Given the description of an element on the screen output the (x, y) to click on. 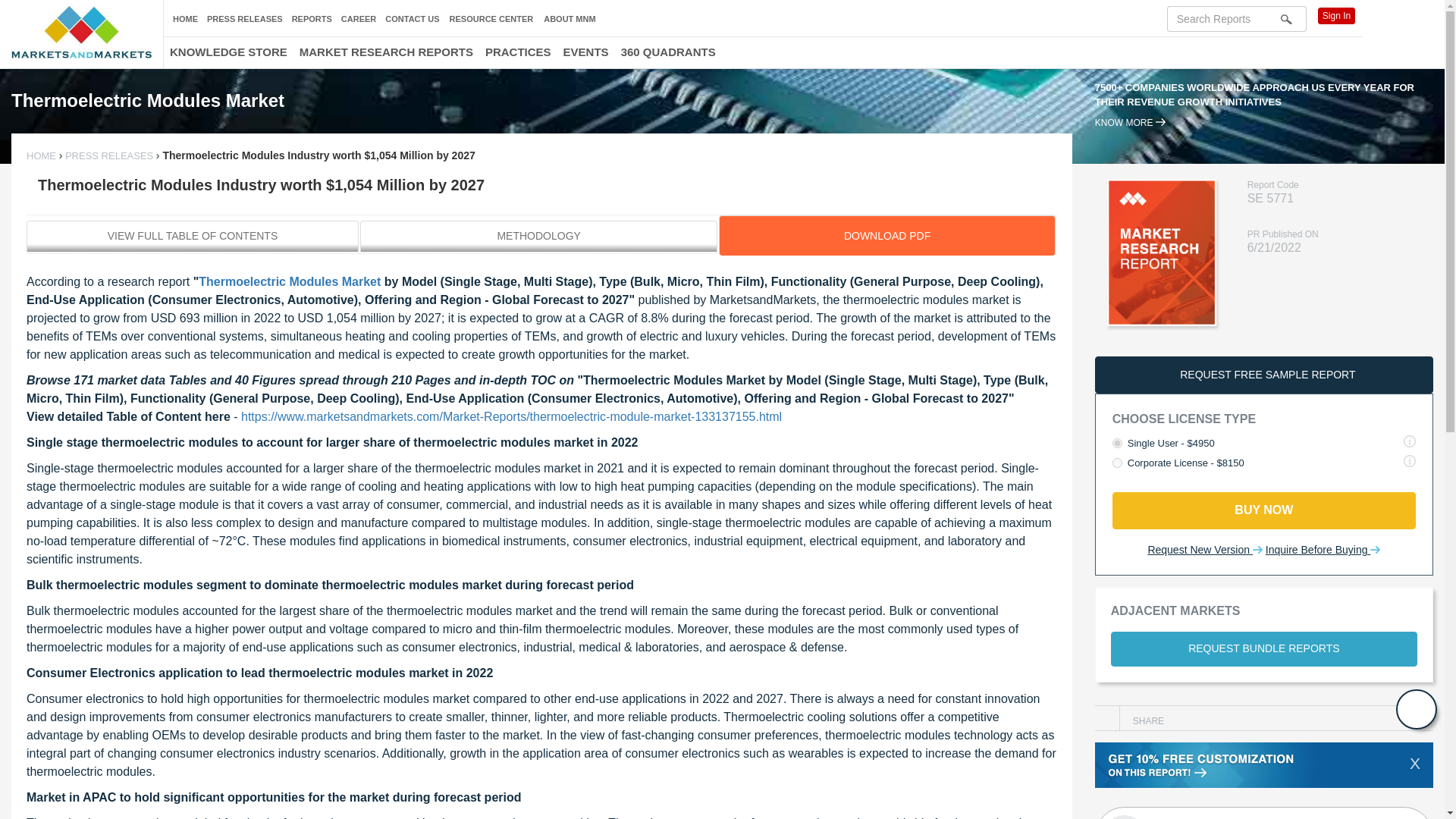
Press release (108, 155)
RESOURCE CENTER (491, 19)
DOWNLOAD PDF (886, 235)
on (1117, 442)
Request New Version (1204, 549)
VIEW FULL TABLE OF CONTENTS (192, 235)
CONTACT US (412, 18)
REPORTS (311, 18)
Market Research Firm (81, 31)
Inquire Before Buying (1322, 549)
REQUEST BUNDLE REPORTS (1263, 648)
PRESS RELEASES (108, 155)
CAREER (357, 18)
REQUEST FREE SAMPLE REPORT (1263, 374)
